Given the description of an element on the screen output the (x, y) to click on. 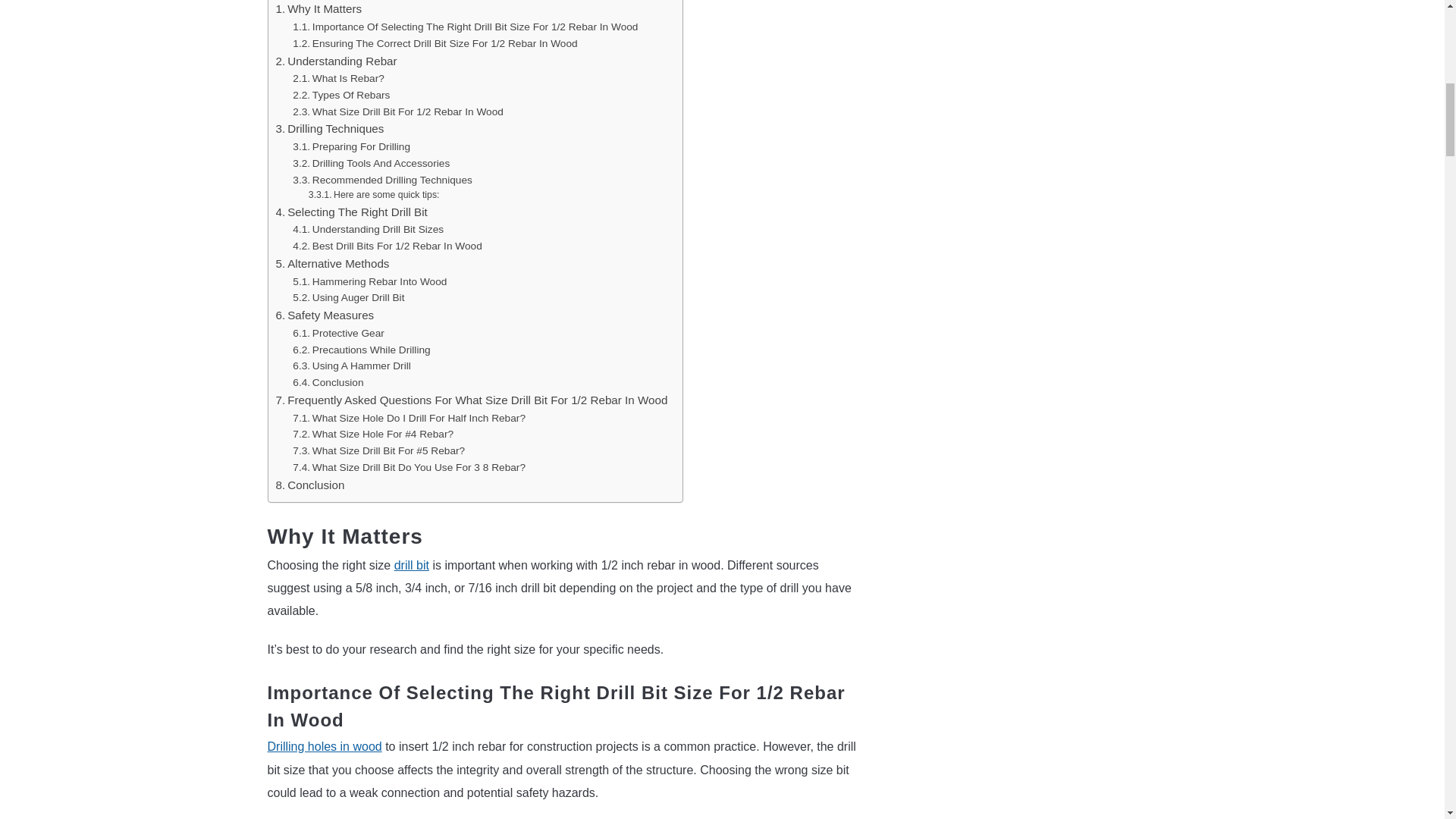
Drilling Techniques (330, 128)
Why It Matters (319, 9)
Here are some quick tips: (373, 195)
Understanding Drill Bit Sizes (368, 229)
Recommended Drilling Techniques (381, 180)
Alternative Methods (333, 263)
Selecting The Right Drill Bit (352, 212)
Hammering Rebar Into Wood (369, 281)
Types Of Rebars (341, 95)
Preparing For Drilling (351, 146)
Understanding Rebar (336, 60)
Drilling Tools And Accessories (370, 163)
What Is Rebar? (338, 78)
